Given the description of an element on the screen output the (x, y) to click on. 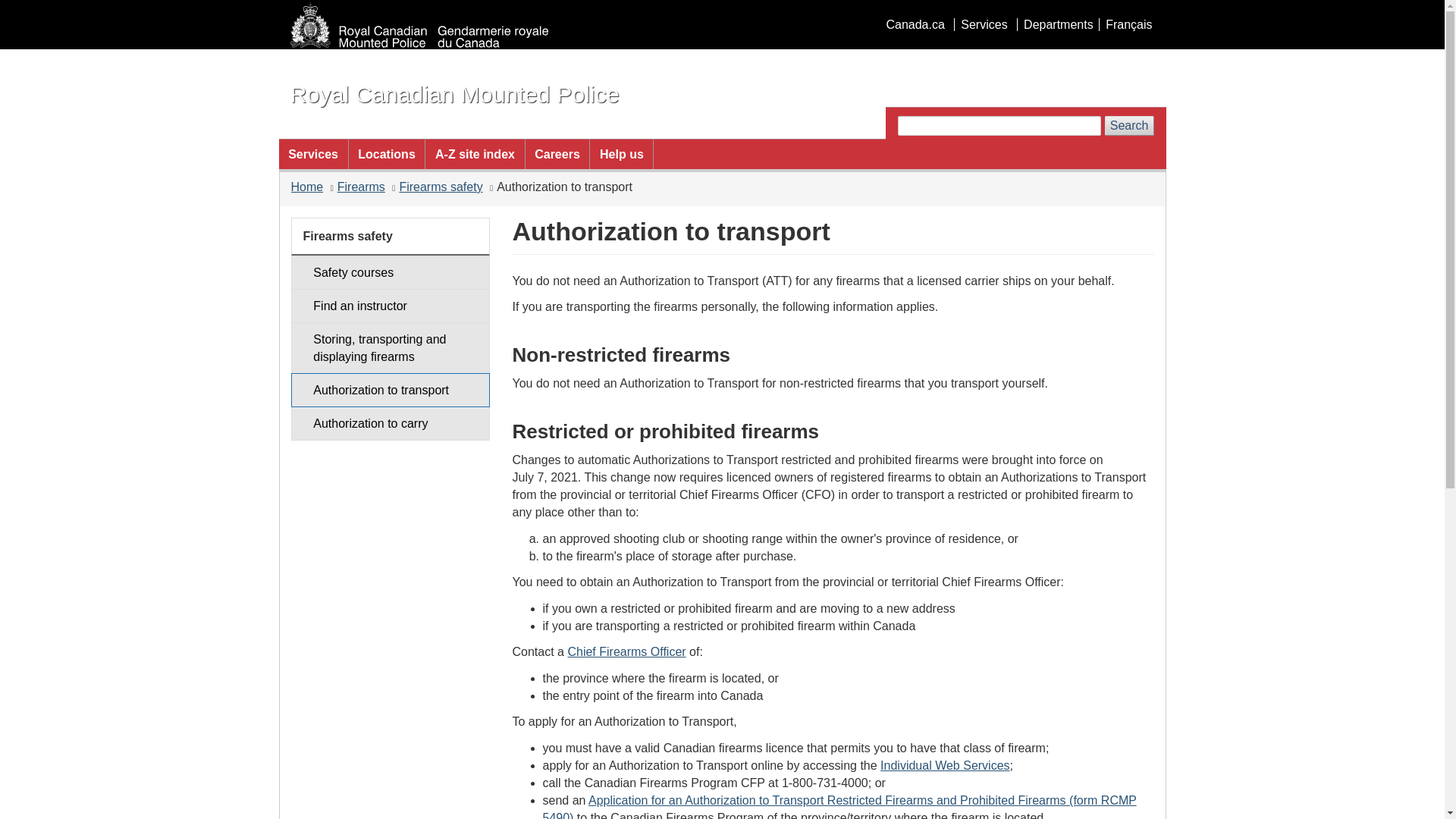
Home (453, 94)
Home (307, 186)
Skip to main content (725, 11)
Departments (1057, 24)
Locations (387, 153)
A-Z site index (474, 153)
Help us (620, 153)
Find an instructor (390, 305)
Search (1129, 125)
Services (313, 153)
